Given the description of an element on the screen output the (x, y) to click on. 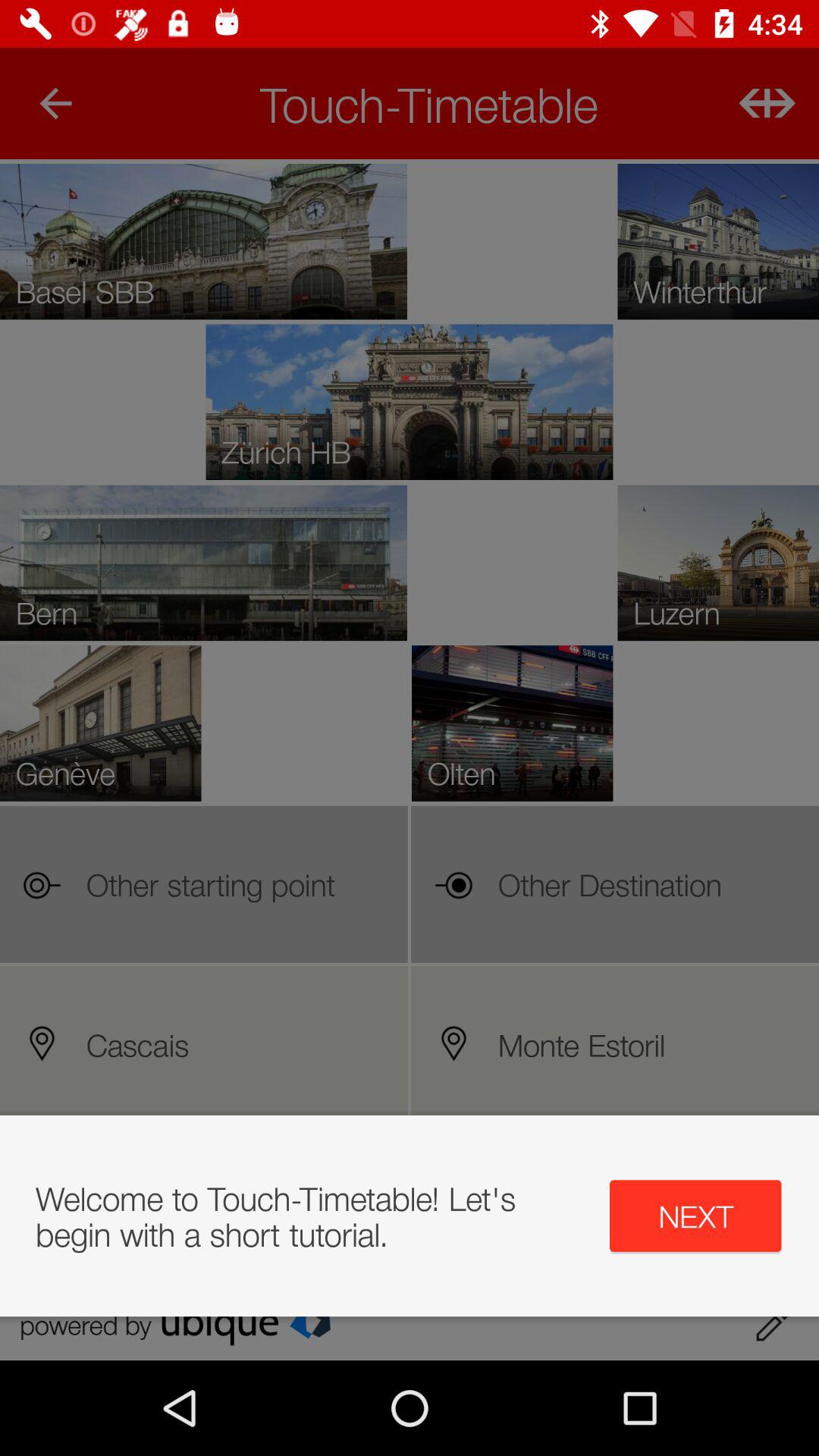
flip until the next button (695, 1215)
